Given the description of an element on the screen output the (x, y) to click on. 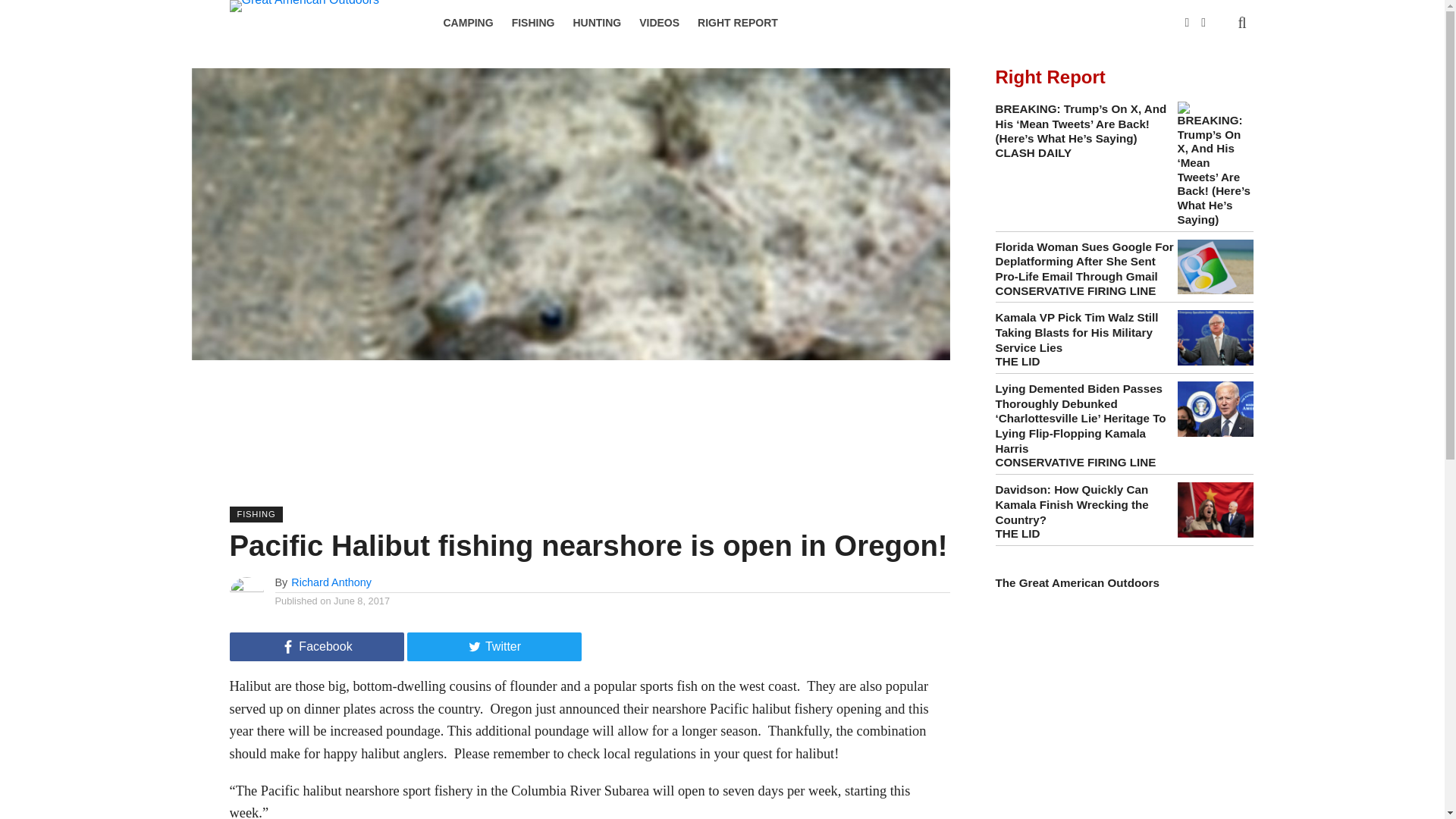
CONSERVATIVE FIRING LINE (1075, 290)
RIGHT REPORT (737, 22)
HUNTING (596, 22)
Posts by Richard Anthony (331, 582)
CAMPING (467, 22)
Facebook (315, 646)
VIDEOS (659, 22)
Twitter (493, 646)
